Given the description of an element on the screen output the (x, y) to click on. 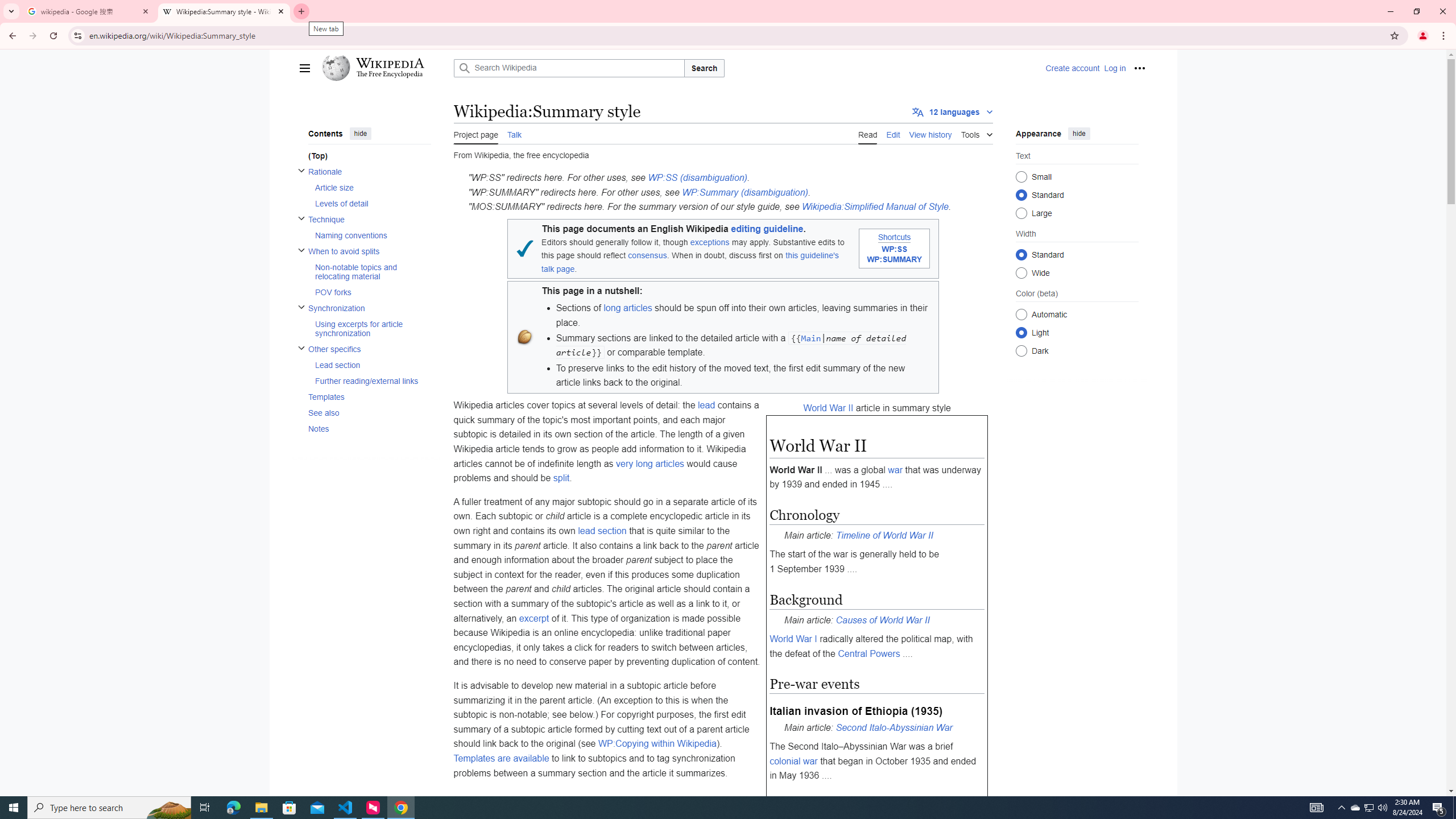
Light (1020, 332)
Synchronization (368, 307)
Wikipedia (389, 62)
Toggle Technique subsection (300, 217)
Toggle When to avoid splits subsection (300, 249)
Article size (372, 187)
WP:SUMMARY (893, 258)
WP:SS (893, 248)
Main menu (304, 67)
this guideline's talk page (690, 261)
AutomationID: pt-createaccount-2 (1072, 67)
WP:Copying within Wikipedia (657, 743)
